Given the description of an element on the screen output the (x, y) to click on. 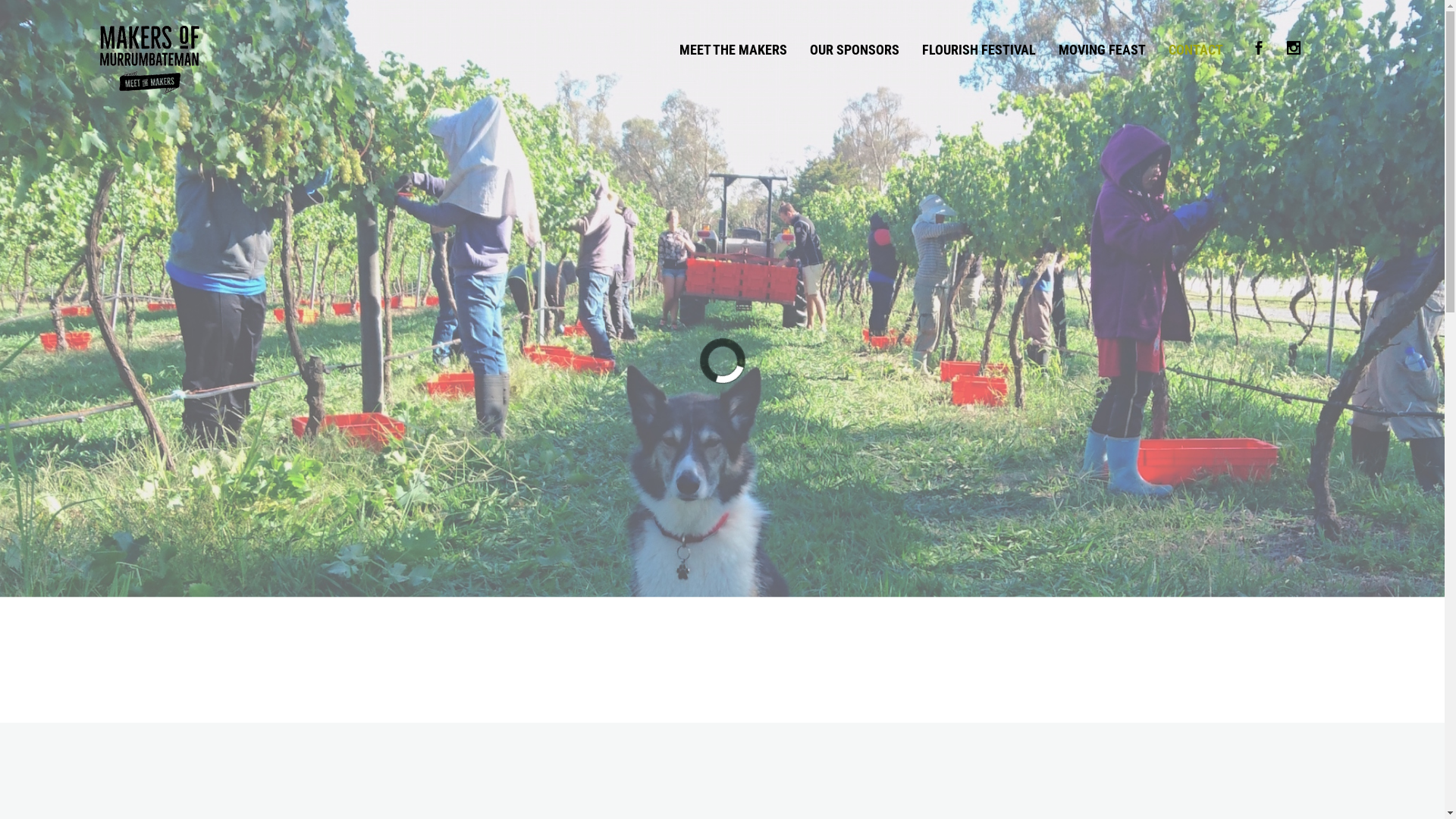
MEET THE MAKERS Element type: text (733, 49)
CONTACT Element type: text (1195, 49)
MOVING FEAST Element type: text (1102, 49)
OUR SPONSORS Element type: text (854, 49)
FLOURISH FESTIVAL Element type: text (978, 49)
